Given the description of an element on the screen output the (x, y) to click on. 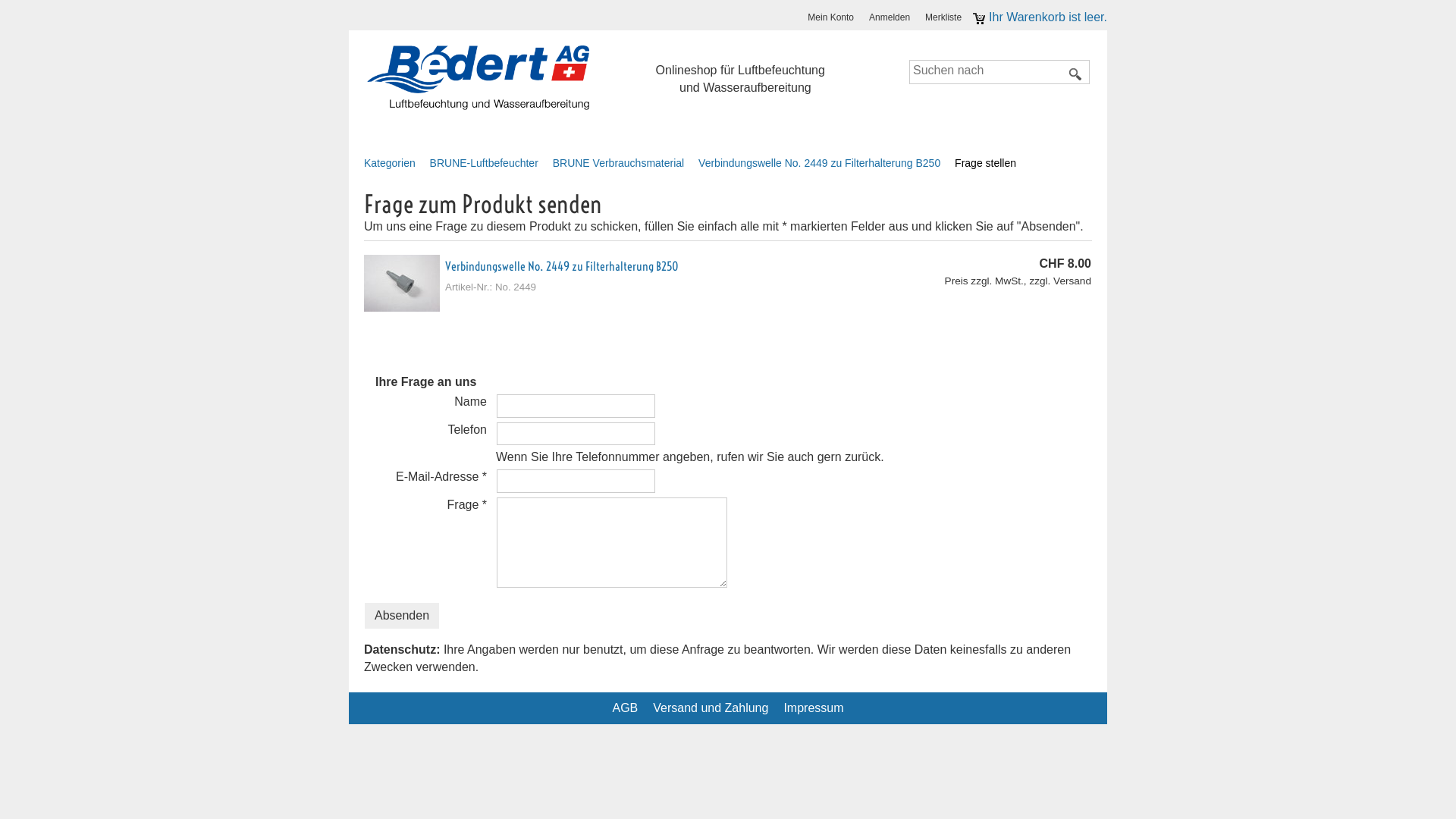
Verbindungswelle No. 2449 zu Filterhalterung B250 Element type: text (561, 265)
Versand und Zahlung Element type: text (713, 707)
Impressum Element type: text (816, 707)
Kategorien Element type: text (395, 162)
REMKO-Luftreiniger Element type: text (709, 128)
Suche starten Element type: hover (1075, 74)
AGB Element type: text (628, 707)
Zum Produkt Element type: hover (401, 282)
Merkliste Element type: text (947, 17)
Verbindungswelle No. 2449 zu Filterhalterung B250 Element type: text (825, 162)
Carel-Befeuchter Element type: text (581, 128)
BRUNE-Luftbefeuchter Element type: text (489, 162)
BRUNE-Luftbefeuchter Element type: text (444, 128)
Absenden Element type: text (401, 615)
BRUNE Verbrauchsmaterial Element type: text (624, 162)
Anmelden Element type: text (893, 17)
Mein Konto Element type: text (834, 17)
